Given the description of an element on the screen output the (x, y) to click on. 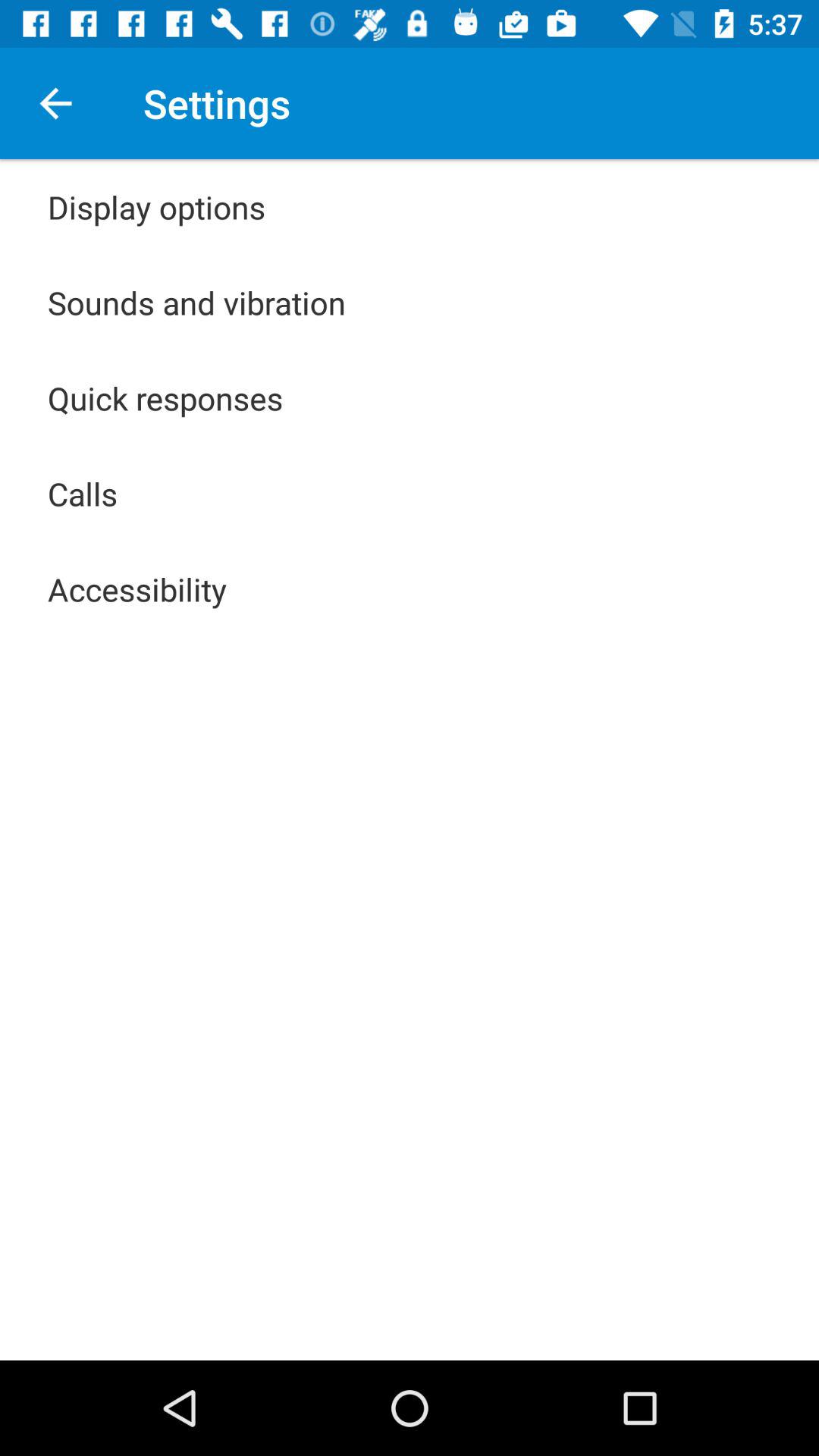
click the app to the left of settings icon (55, 103)
